Given the description of an element on the screen output the (x, y) to click on. 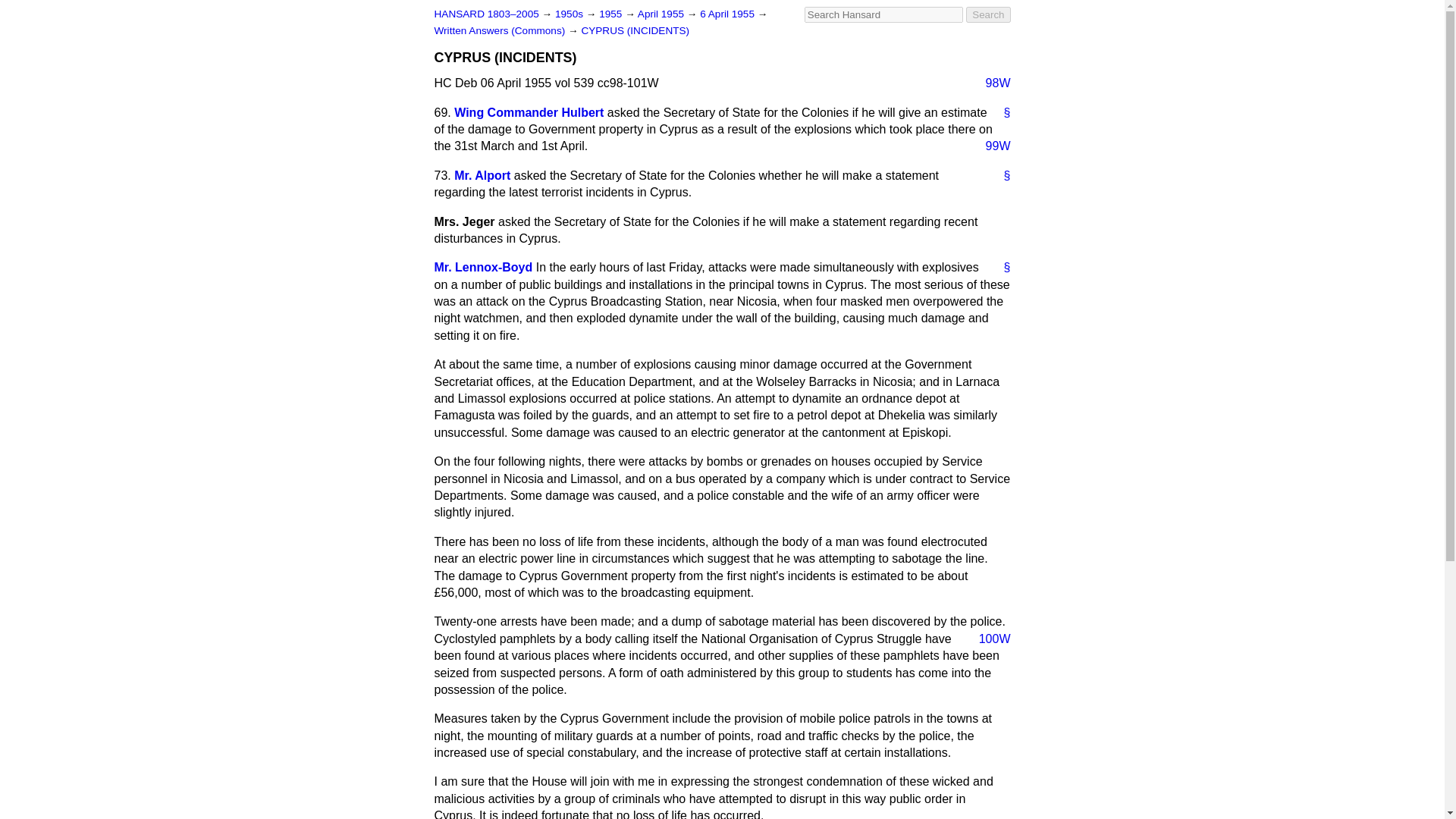
Mr Alan Lennox-Boyd (482, 267)
Link to this speech by Sir Norman Hulbert (1000, 112)
98W (992, 83)
Search (988, 14)
6 April 1955 (728, 13)
100W (988, 638)
Mr. Alport (482, 174)
Link to this speech by Mr Cuthbert Alport (1000, 175)
Access key: S (883, 14)
Mr. Lennox-Boyd (482, 267)
1950s (570, 13)
Wing Commander Hulbert (529, 112)
Search (988, 14)
April 1955 (662, 13)
Mr Cuthbert Alport (482, 174)
